Given the description of an element on the screen output the (x, y) to click on. 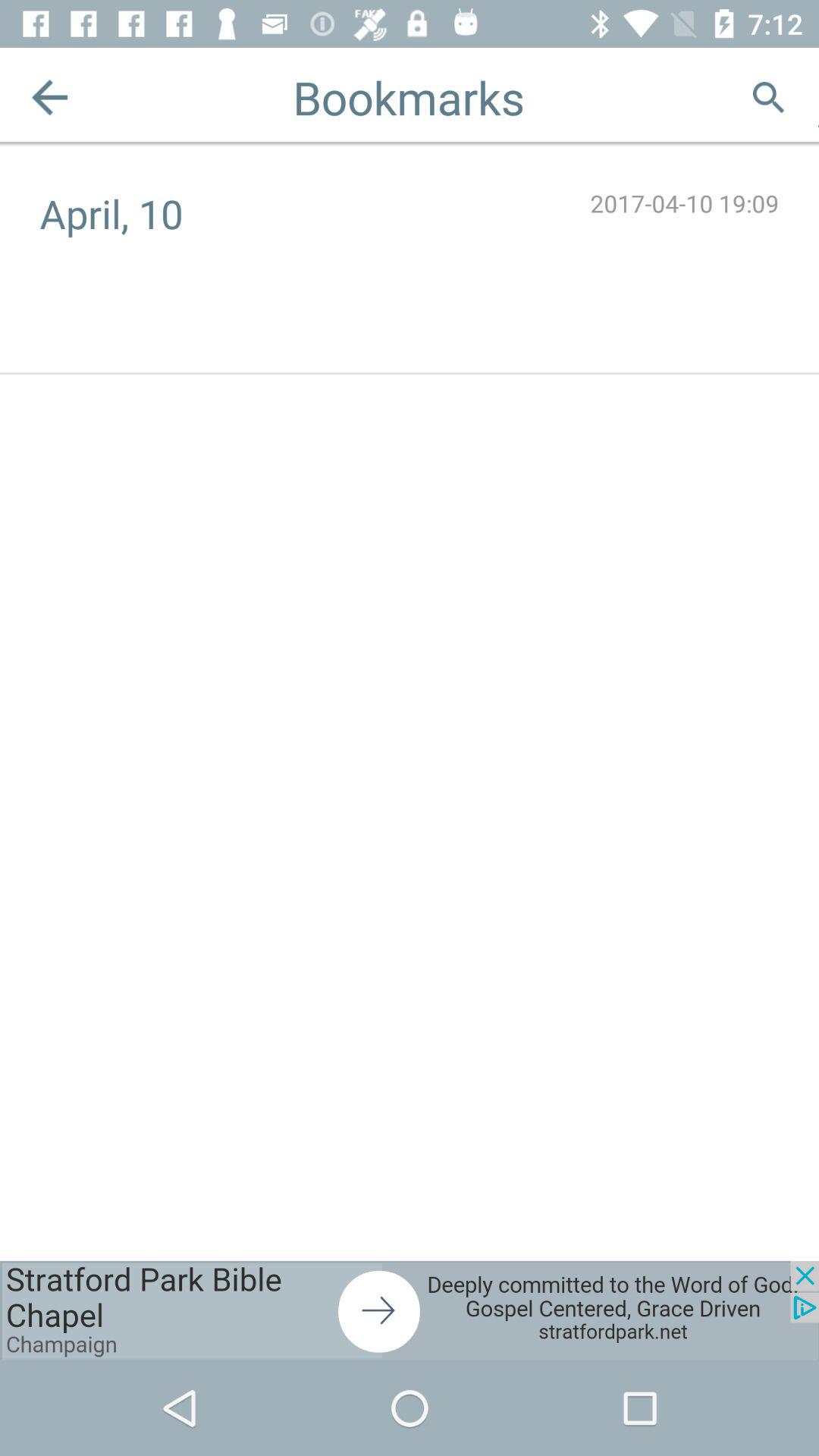
google search (768, 97)
